Given the description of an element on the screen output the (x, y) to click on. 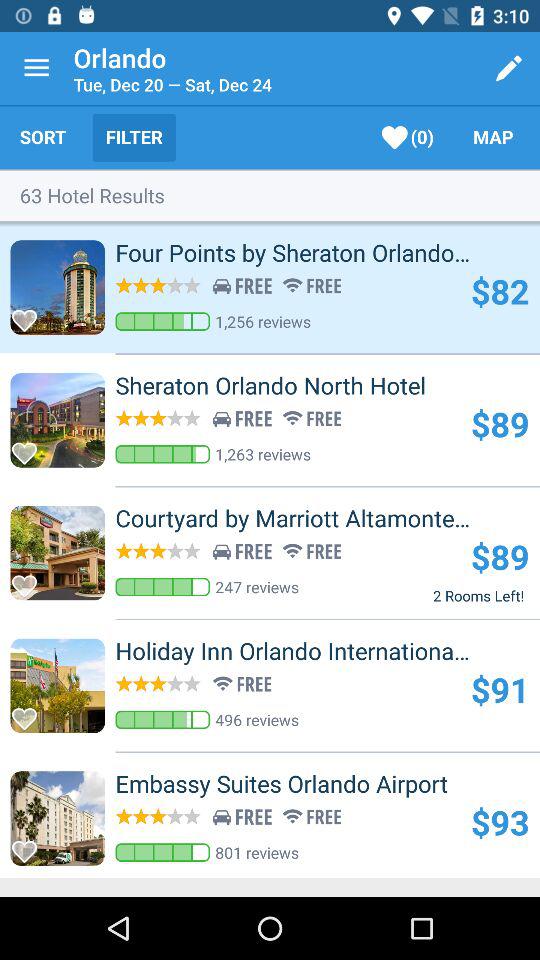
select the map item (493, 137)
